Given the description of an element on the screen output the (x, y) to click on. 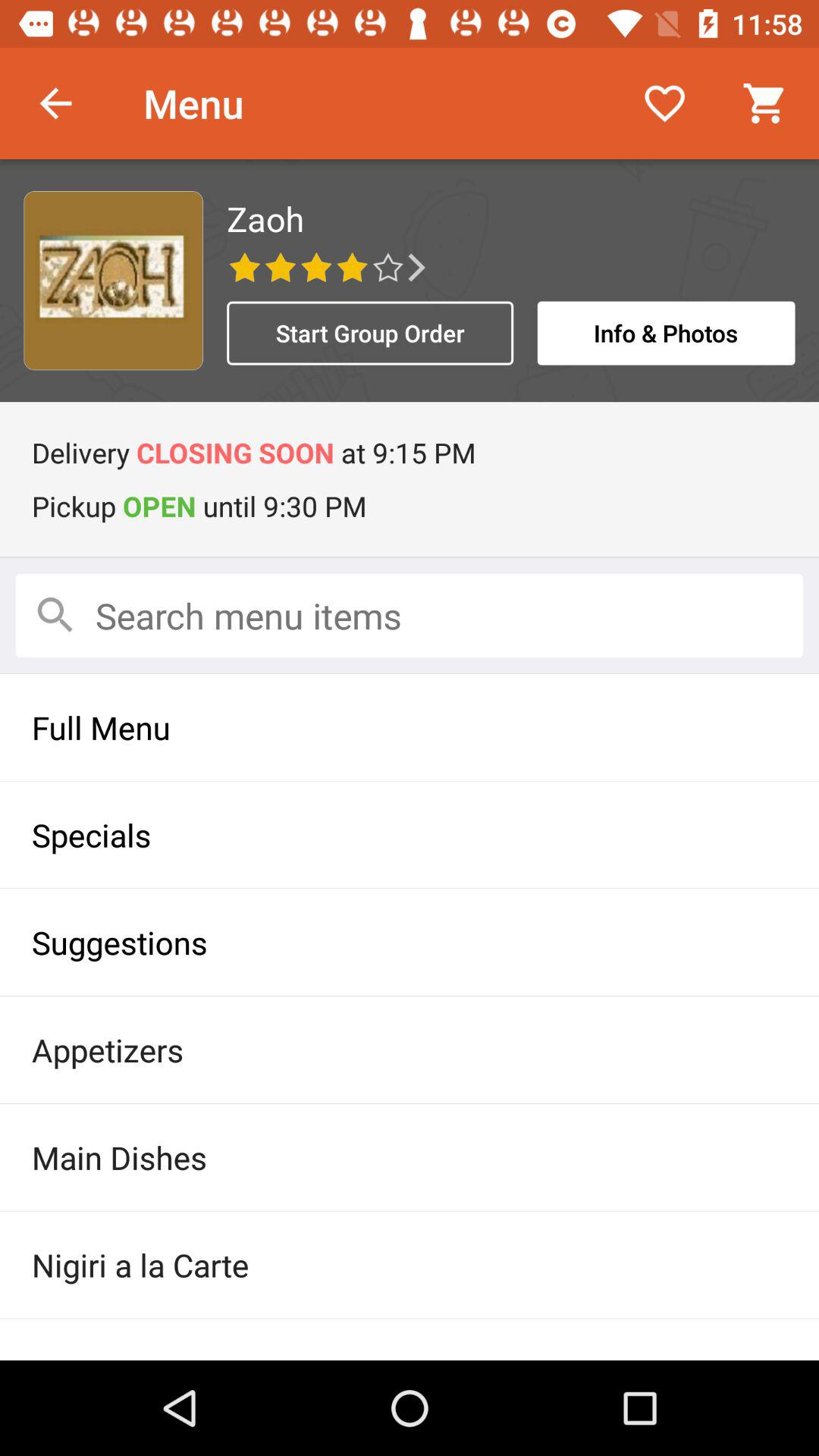
turn on the item to the left of the info & photos icon (369, 333)
